Given the description of an element on the screen output the (x, y) to click on. 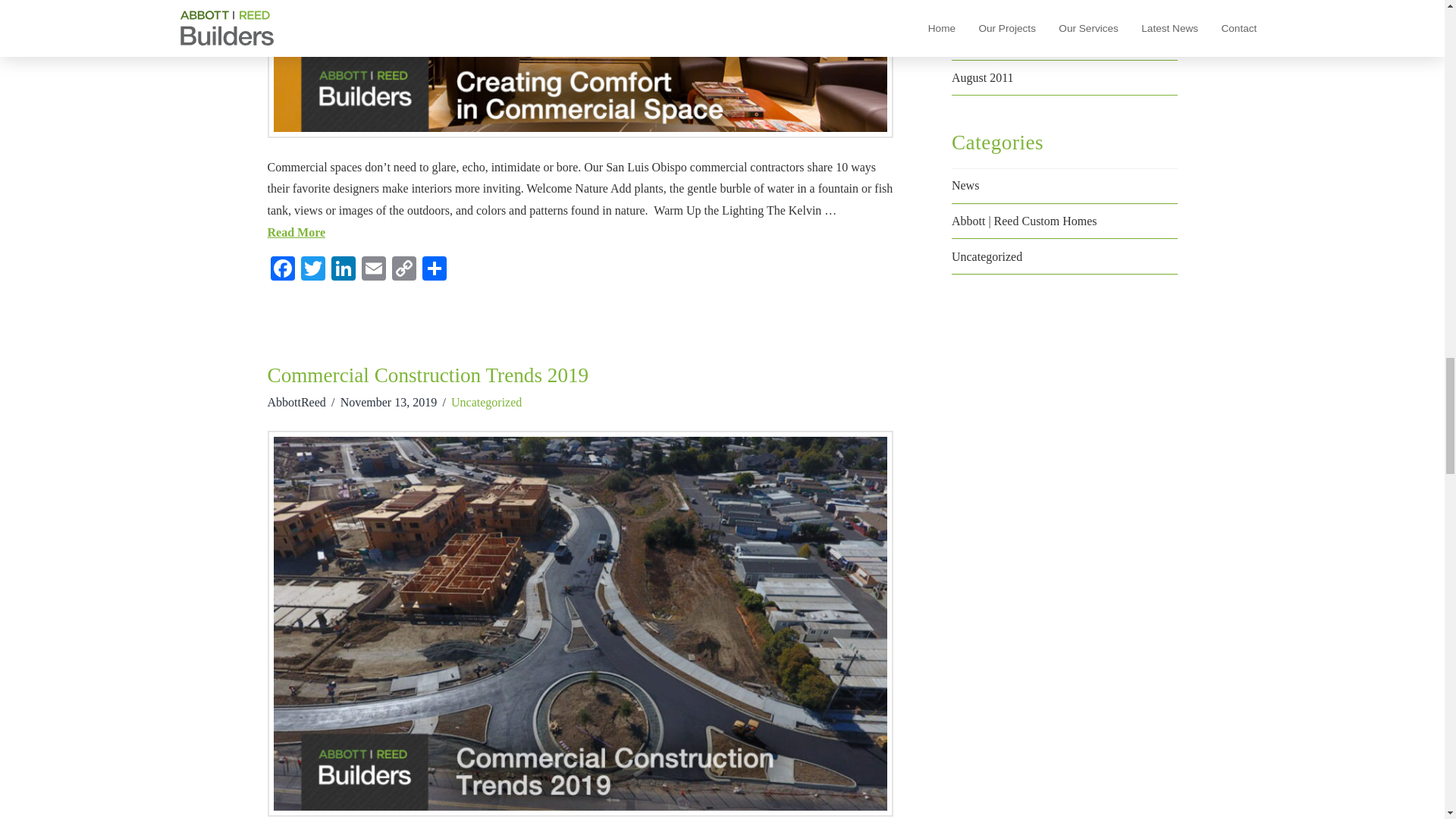
Read More (295, 232)
